Given the description of an element on the screen output the (x, y) to click on. 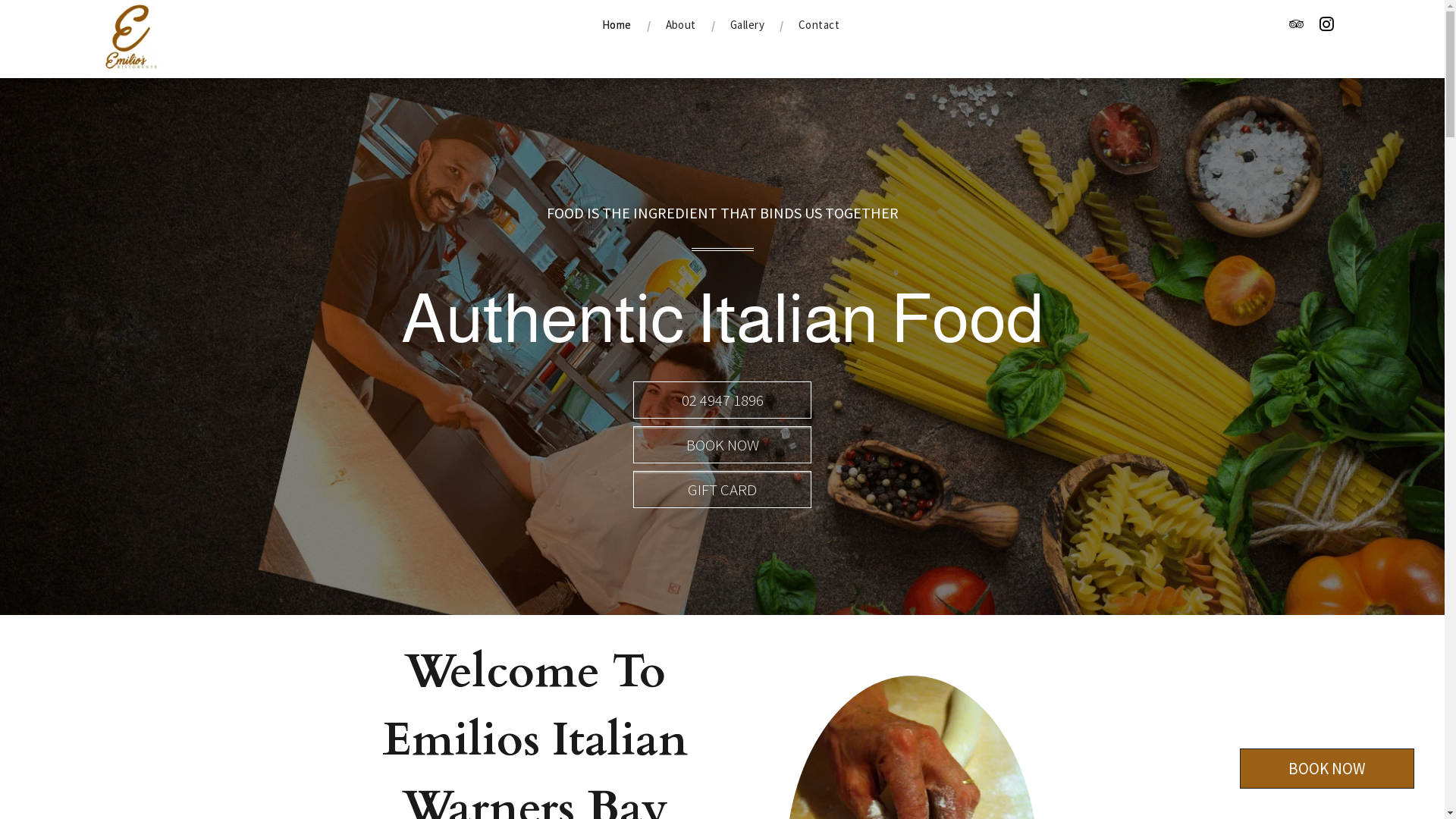
Home Element type: text (616, 24)
About Element type: text (680, 24)
BOOK NOW Element type: text (722, 444)
GIFT CARD Element type: text (722, 489)
BOOK NOW Element type: text (1326, 768)
Contact Element type: text (818, 24)
Gallery Element type: text (747, 24)
02 4947 1896 Element type: text (722, 399)
